Given the description of an element on the screen output the (x, y) to click on. 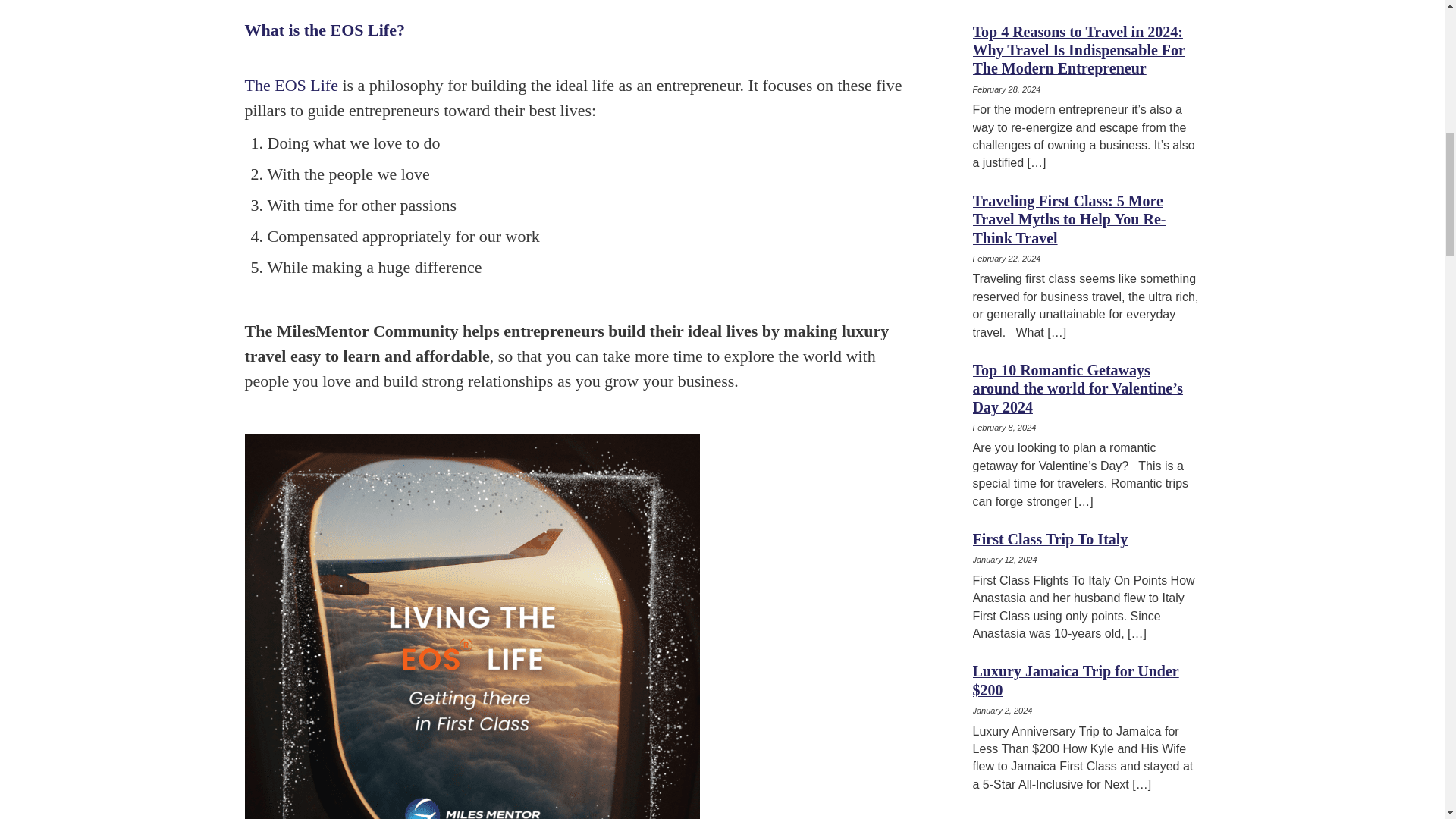
The EOS Life (290, 85)
First Class Trip To Italy (1049, 539)
